Given the description of an element on the screen output the (x, y) to click on. 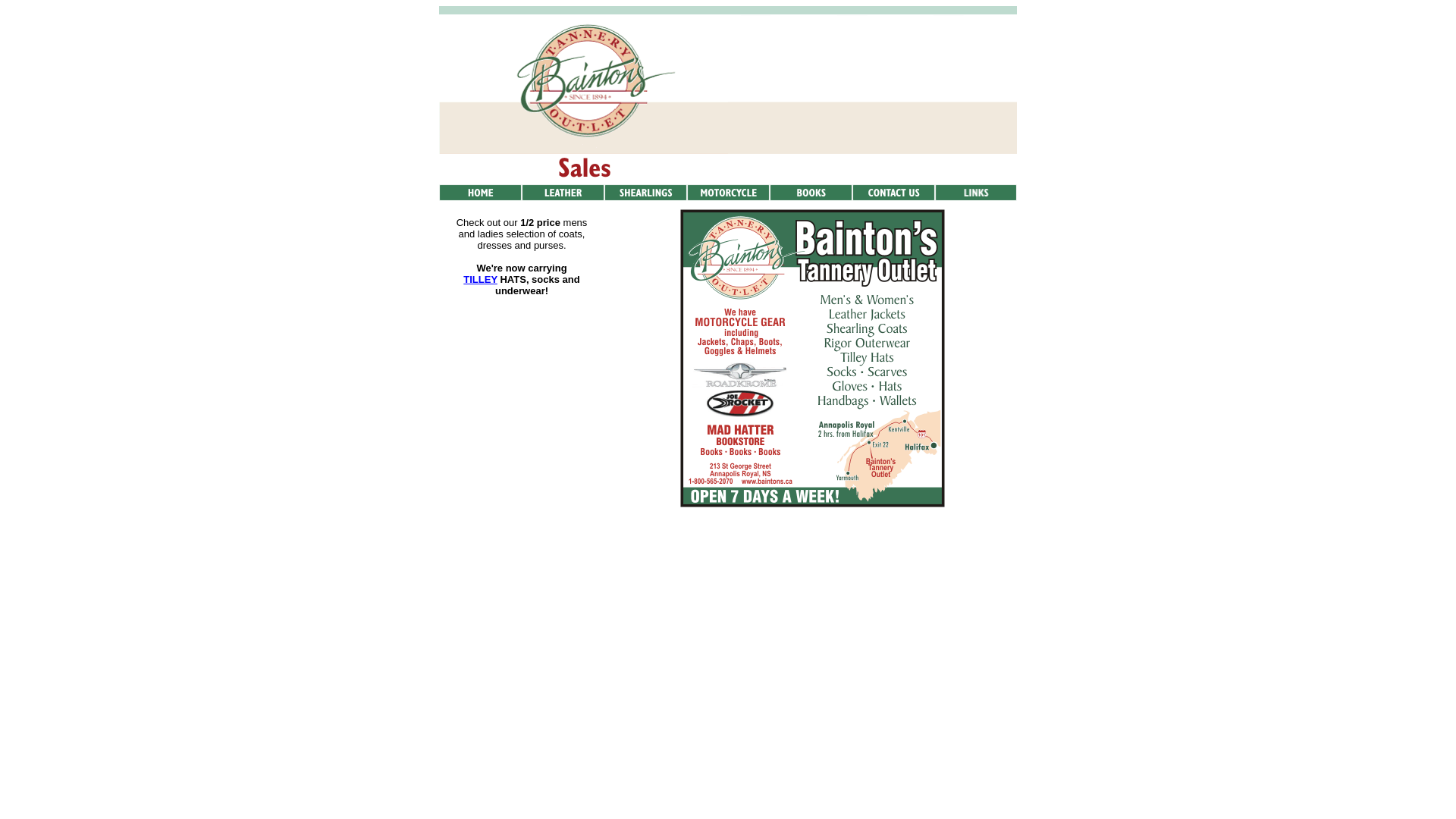
TILLEY Element type: text (480, 279)
